Given the description of an element on the screen output the (x, y) to click on. 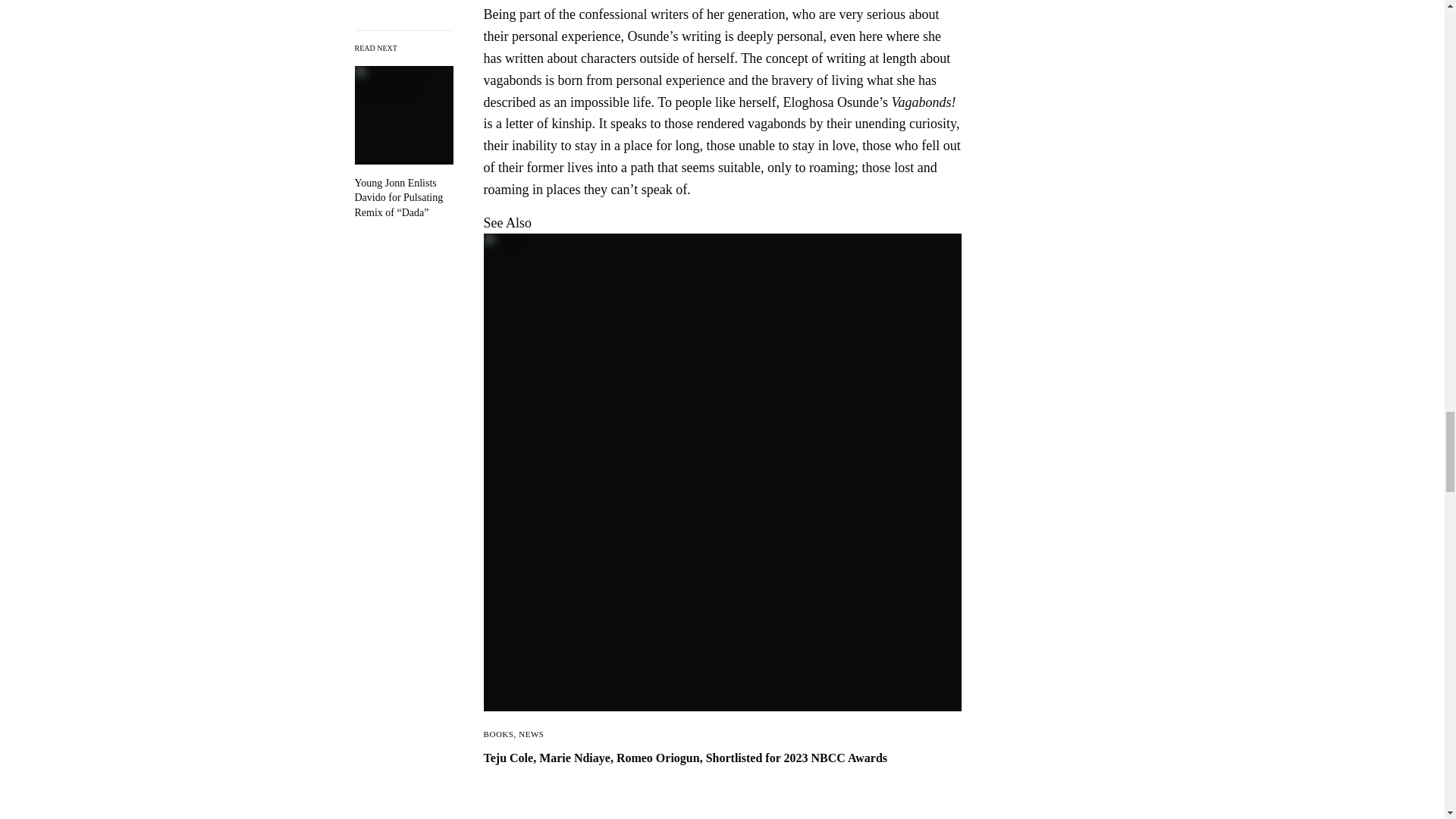
NEWS (530, 733)
BOOKS (498, 733)
